Given the description of an element on the screen output the (x, y) to click on. 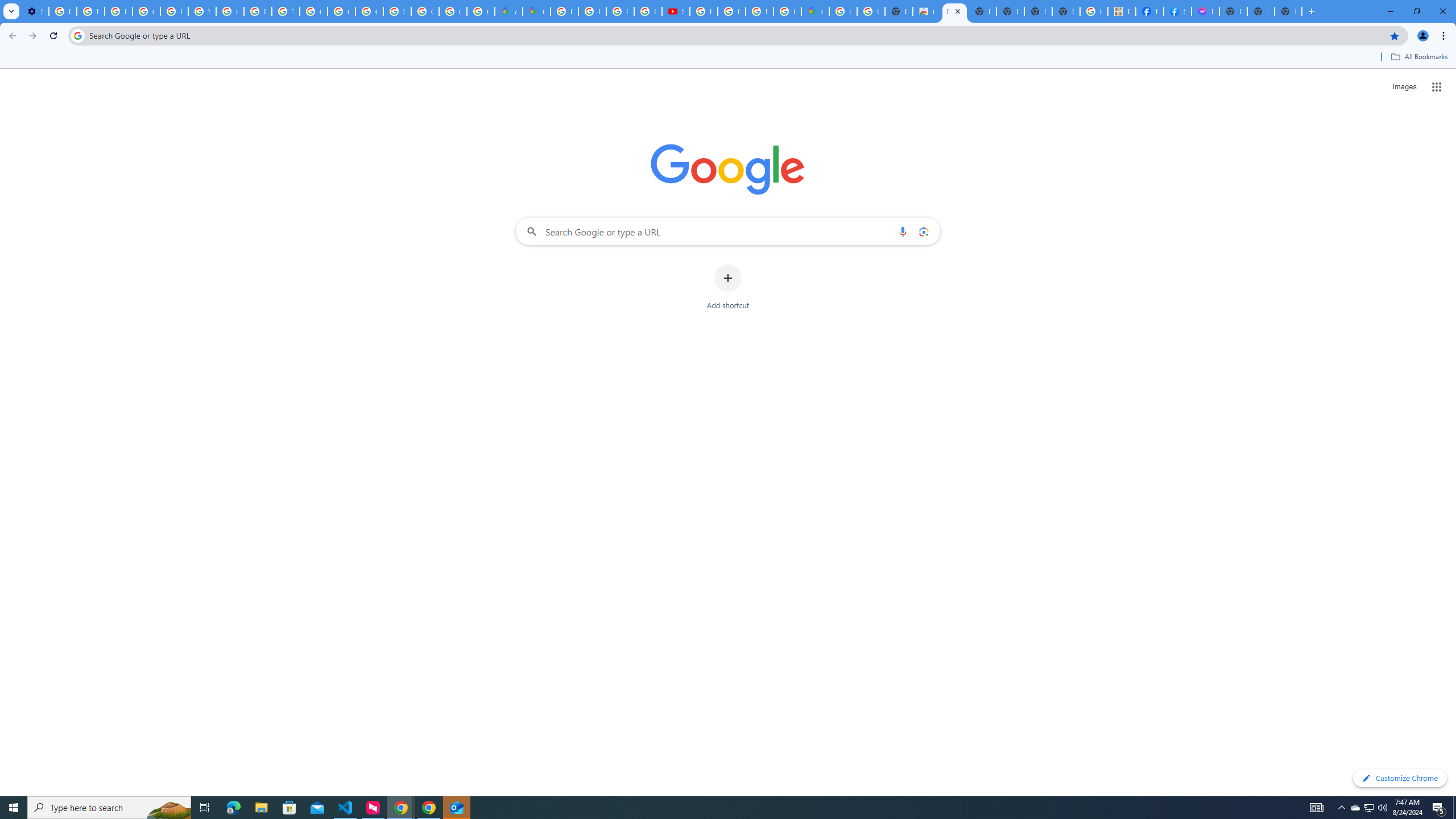
Subscriptions - YouTube (675, 11)
